Given the description of an element on the screen output the (x, y) to click on. 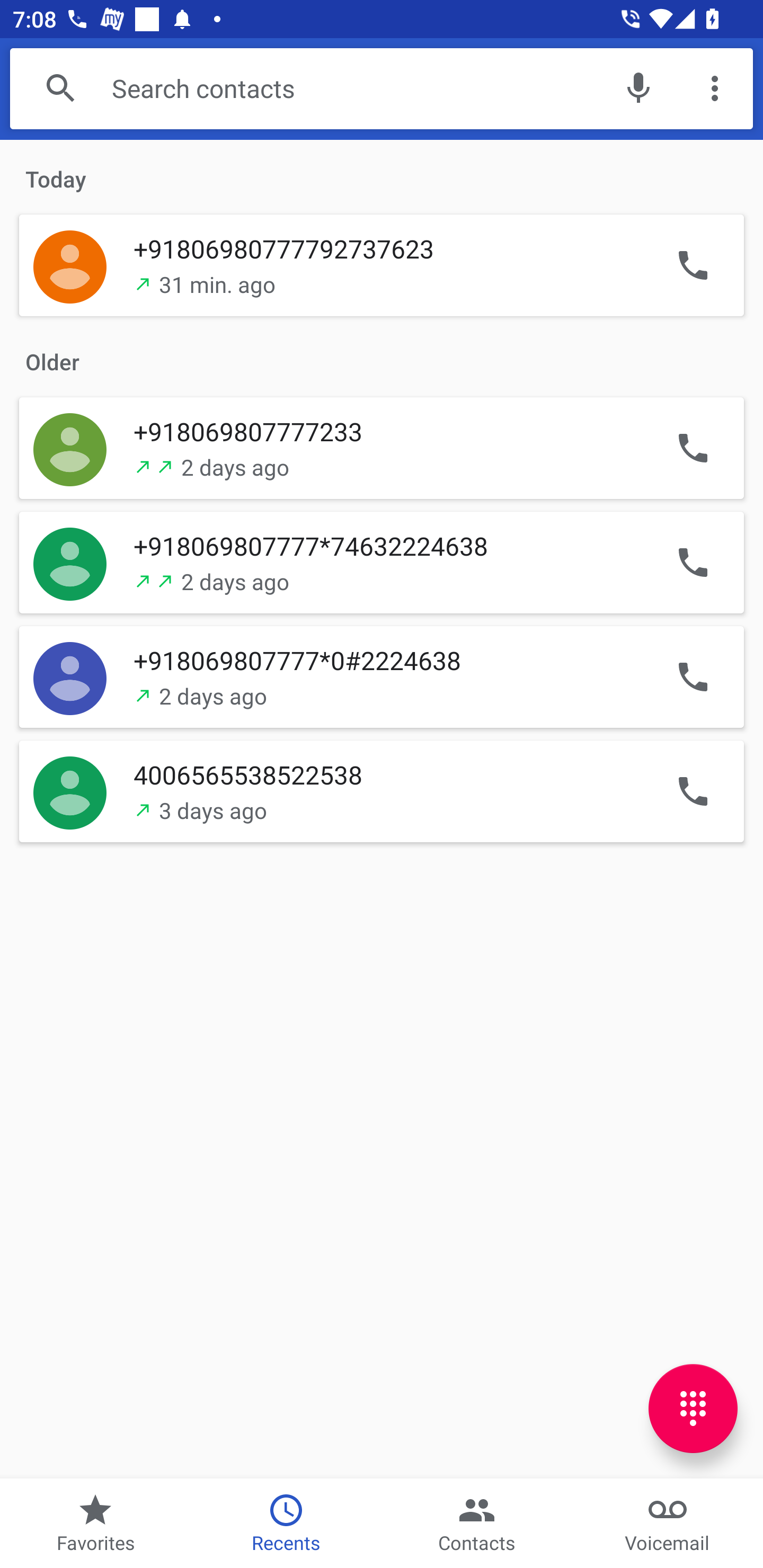
Search contacts Start voice search More options (381, 88)
Start voice search (638, 88)
More options (714, 88)
Quick contact for +91806980777792737623 (70, 265)
Call +91806980777792737623 (692, 265)
Quick contact for +918069807777233 (70, 447)
Call +918069807777233 (692, 447)
Quick contact for +918069807777*74632224638 (70, 561)
Call +918069807777*74632224638 (692, 561)
Quick contact for +918069807777*0#2224638 (70, 676)
Call +918069807777*0#2224638 (692, 676)
Quick contact for 4006565538522538 (70, 790)
Call 4006565538522538 (692, 790)
key pad (692, 1408)
Favorites (95, 1523)
Recents (285, 1523)
Contacts (476, 1523)
Voicemail (667, 1523)
